Given the description of an element on the screen output the (x, y) to click on. 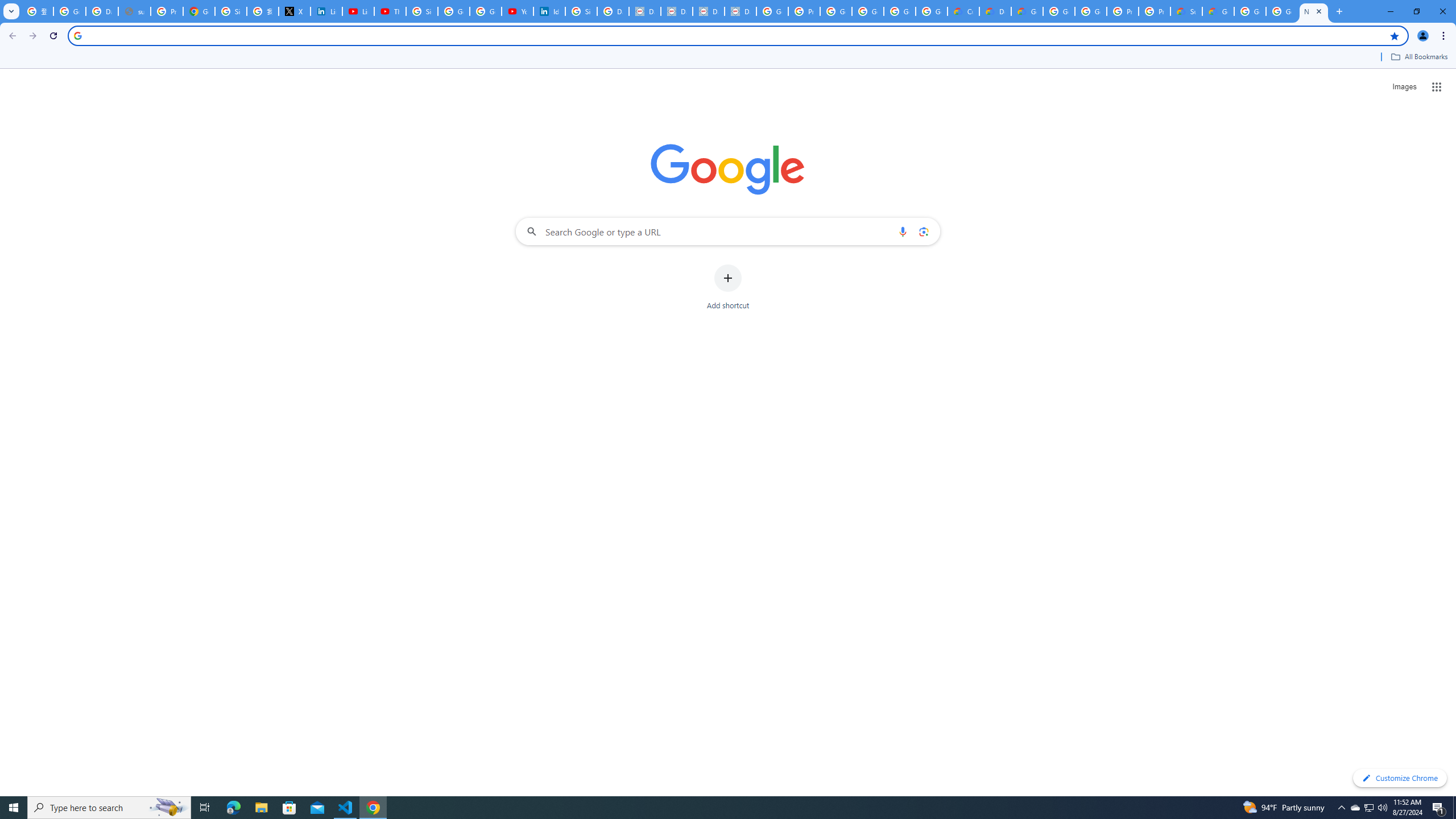
Data Privacy Framework (676, 11)
New Tab (1313, 11)
